Given the description of an element on the screen output the (x, y) to click on. 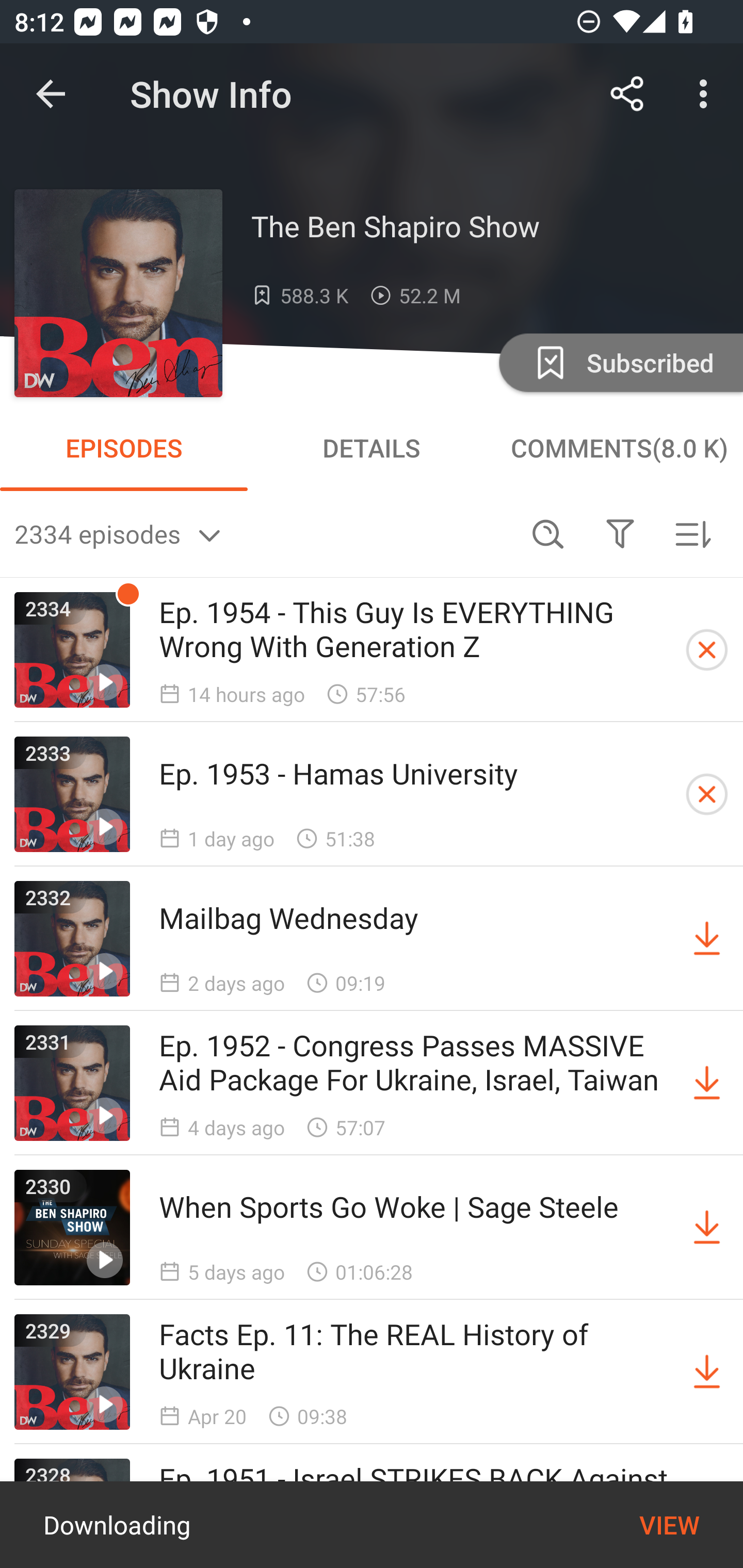
Navigate up (50, 93)
Share (626, 93)
More options (706, 93)
Unsubscribe Subscribed (619, 361)
EPISODES (123, 447)
DETAILS (371, 447)
COMMENTS(8.0 K) (619, 447)
2334 episodes  (262, 533)
 Search (547, 533)
 (619, 533)
 Sorted by newest first (692, 533)
Cancel Downloading (706, 649)
Cancel Downloading (706, 793)
